Given the description of an element on the screen output the (x, y) to click on. 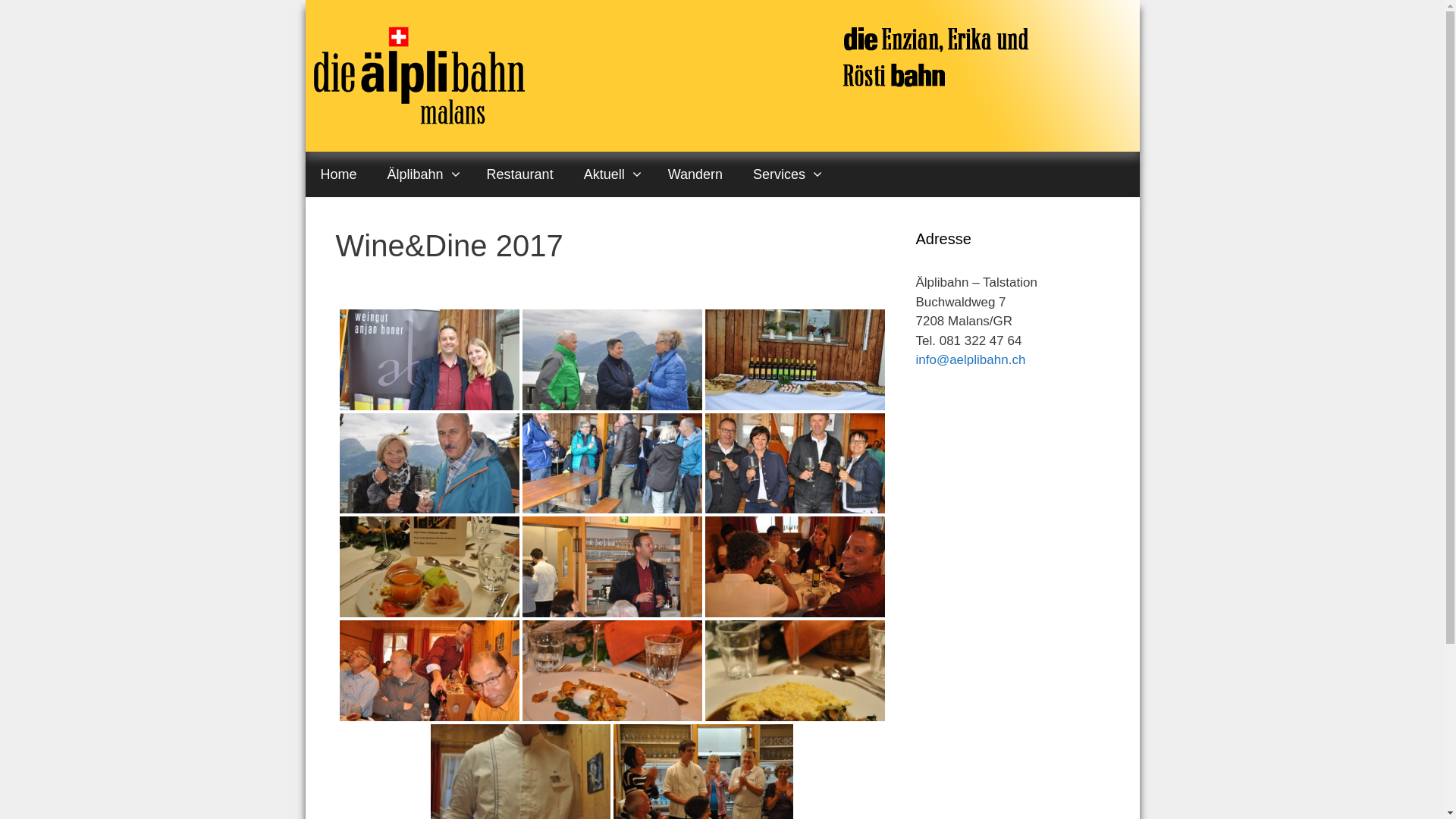
Restaurant Element type: text (519, 174)
Wandern Element type: text (694, 174)
Aktuell Element type: text (610, 174)
Home Element type: text (337, 174)
info@aelplibahn.ch Element type: text (971, 359)
Services Element type: text (785, 174)
